Given the description of an element on the screen output the (x, y) to click on. 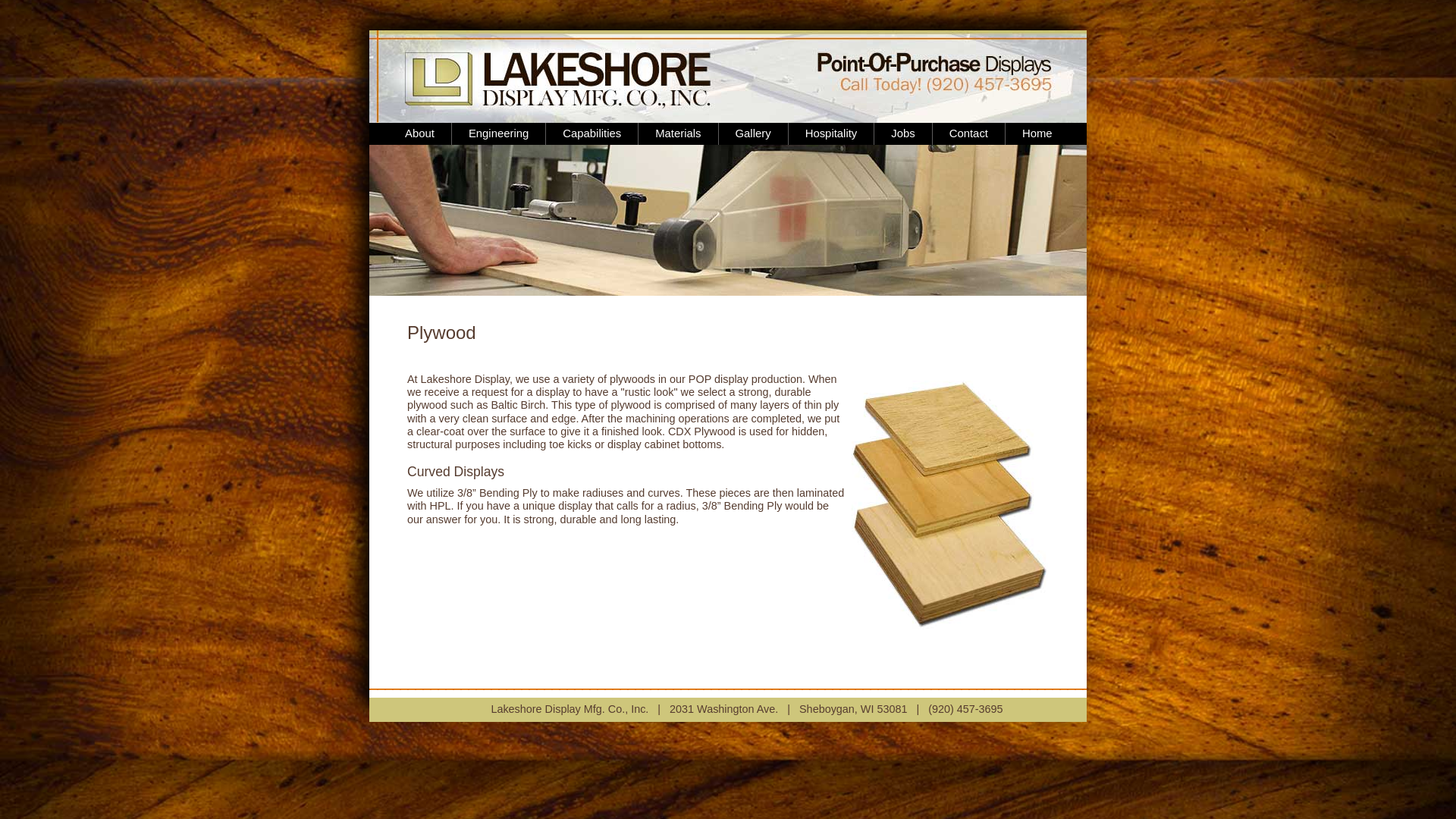
About (419, 133)
Materials (678, 133)
Jobs (903, 133)
Capabilities (591, 133)
Contact (968, 133)
Gallery (753, 133)
Home (1037, 133)
Engineering (497, 133)
Hospitality (832, 133)
